Given the description of an element on the screen output the (x, y) to click on. 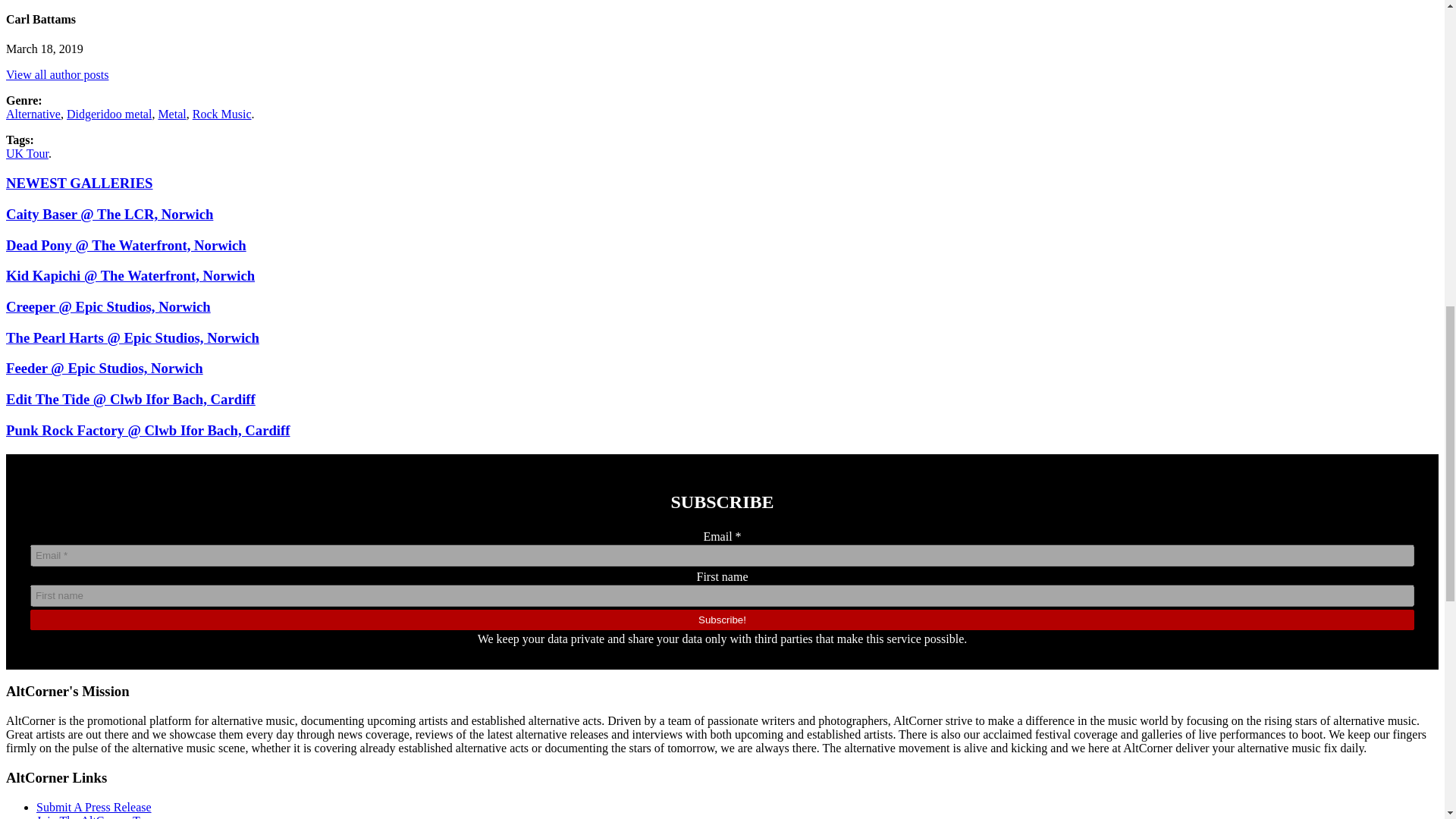
Subscribe! (721, 619)
